Given the description of an element on the screen output the (x, y) to click on. 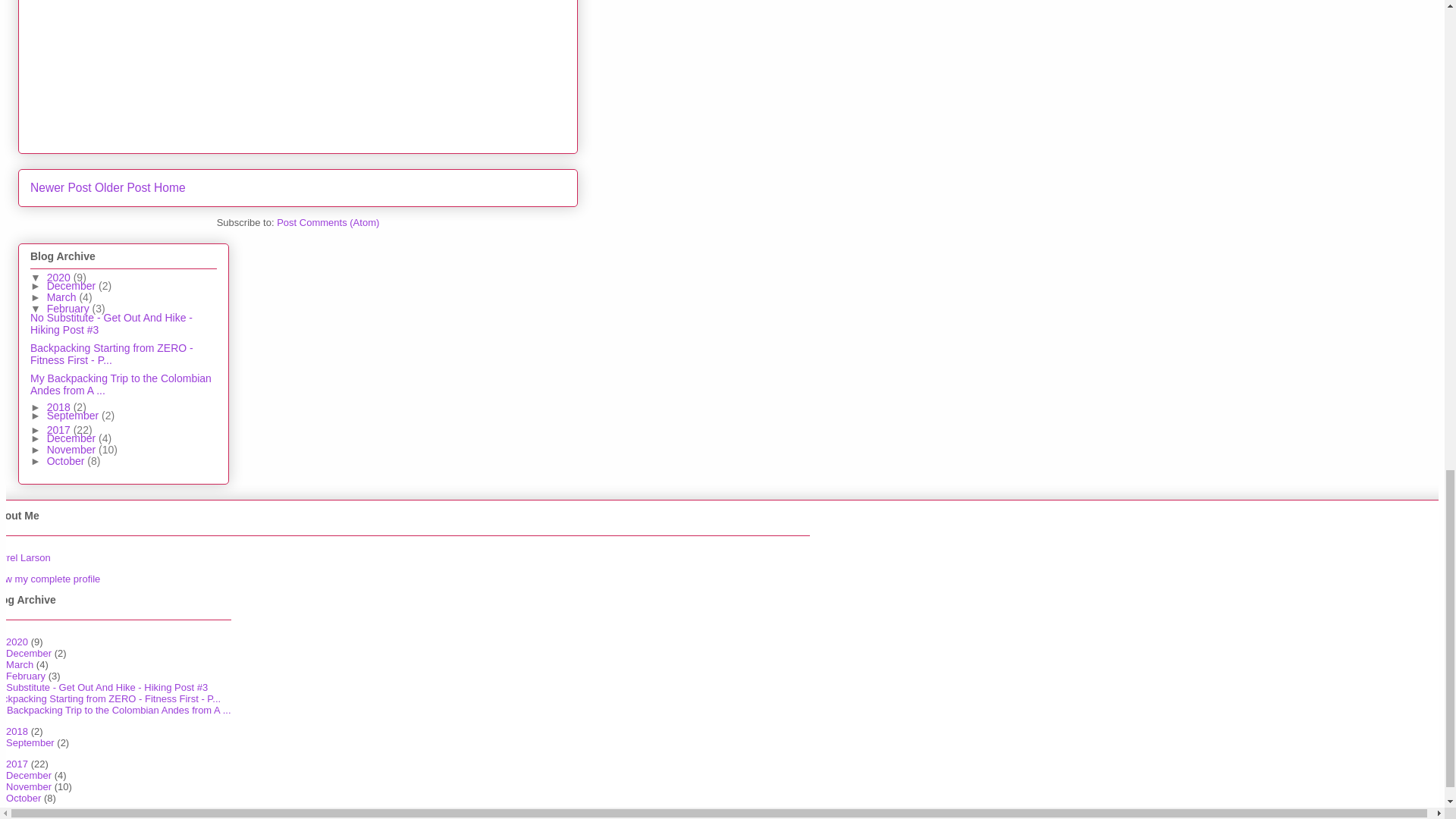
Newer Post (60, 187)
Older Post (122, 187)
March (63, 297)
December (72, 285)
2020 (60, 277)
February (69, 308)
Newer Post (60, 187)
Older Post (122, 187)
Home (170, 187)
